Given the description of an element on the screen output the (x, y) to click on. 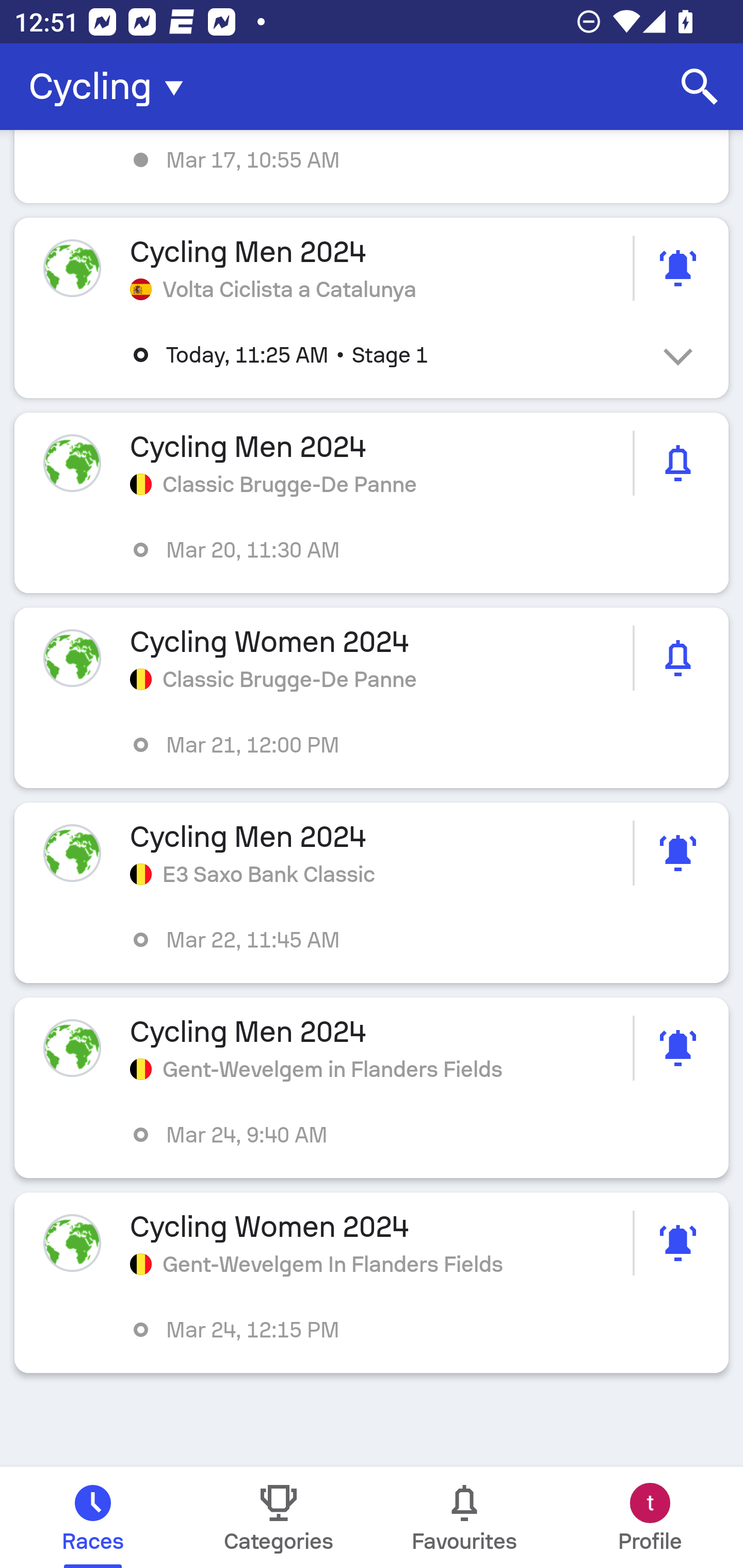
Cycling (111, 86)
Search (699, 86)
Mar 17, 10:55 AM (371, 166)
Today, 11:25 AM • Stage 1 (385, 355)
Categories (278, 1517)
Favourites (464, 1517)
Profile (650, 1517)
